Given the description of an element on the screen output the (x, y) to click on. 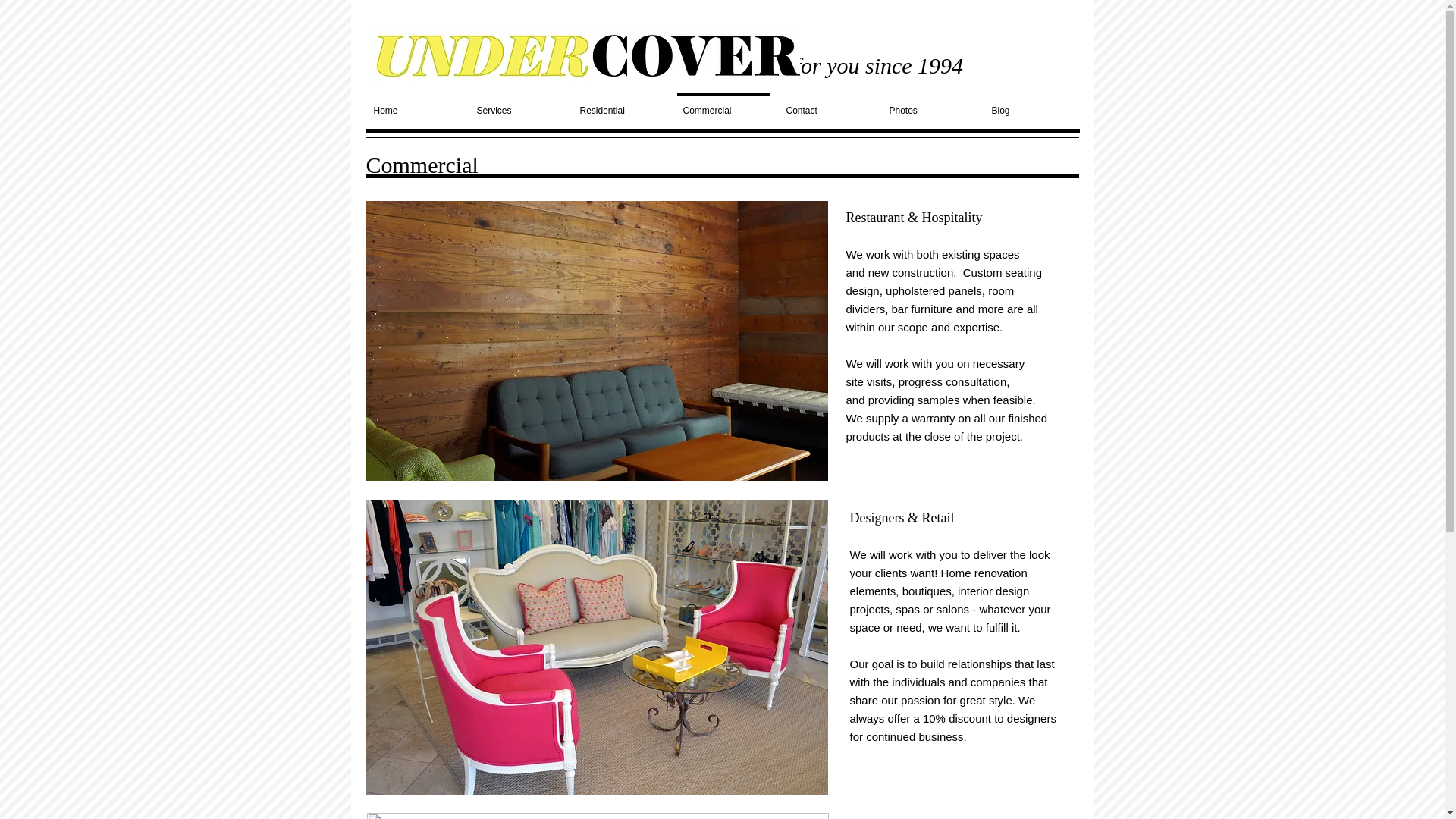
Services (517, 103)
Blog (1030, 103)
Contact (825, 103)
Residential (620, 103)
Home (413, 103)
Photos (928, 103)
Commercial (722, 103)
